Given the description of an element on the screen output the (x, y) to click on. 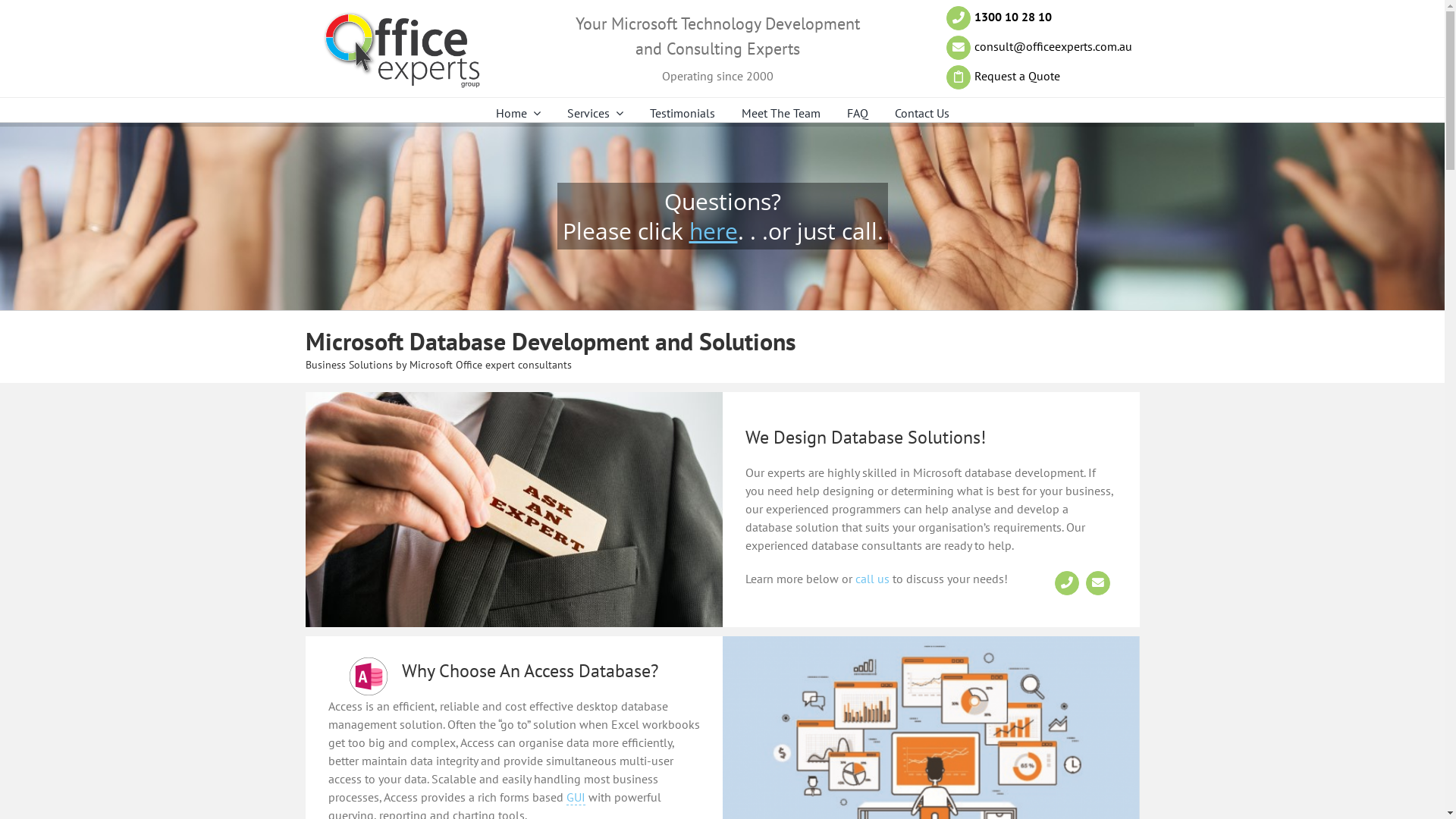
1300 10 28 10 Element type: text (1012, 16)
Contact Us Element type: text (922, 112)
Microsoft Access Element type: hover (368, 676)
Testimonials Element type: text (681, 112)
consult@officeexperts.com.au Element type: text (1053, 45)
Home Element type: text (518, 112)
FAQ Element type: text (856, 112)
Request a Quote Element type: text (1017, 75)
call us Element type: text (872, 578)
Meet The Team Element type: text (781, 112)
here Element type: text (712, 230)
Services Element type: text (594, 112)
